Given the description of an element on the screen output the (x, y) to click on. 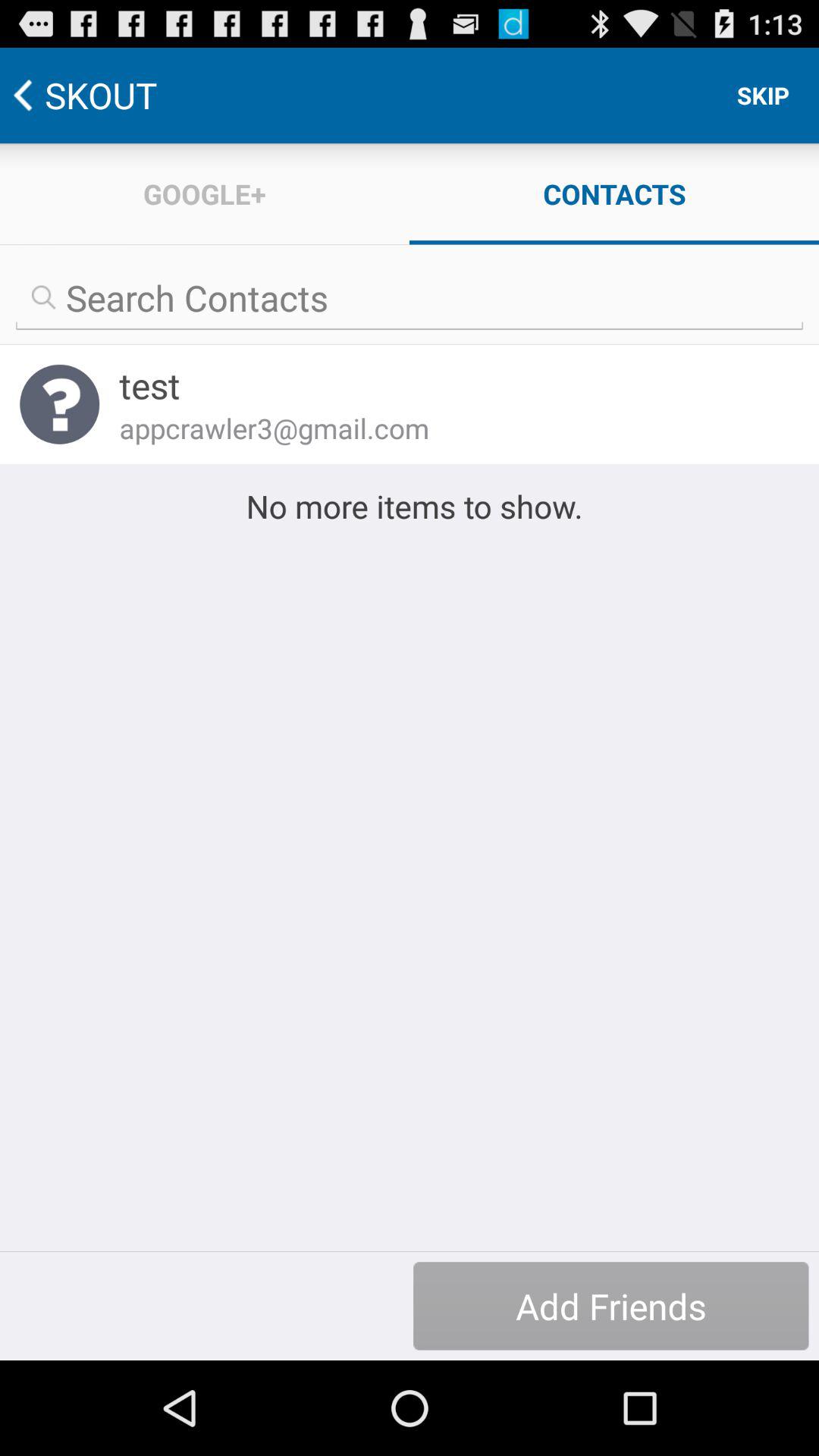
swipe to test (449, 385)
